Given the description of an element on the screen output the (x, y) to click on. 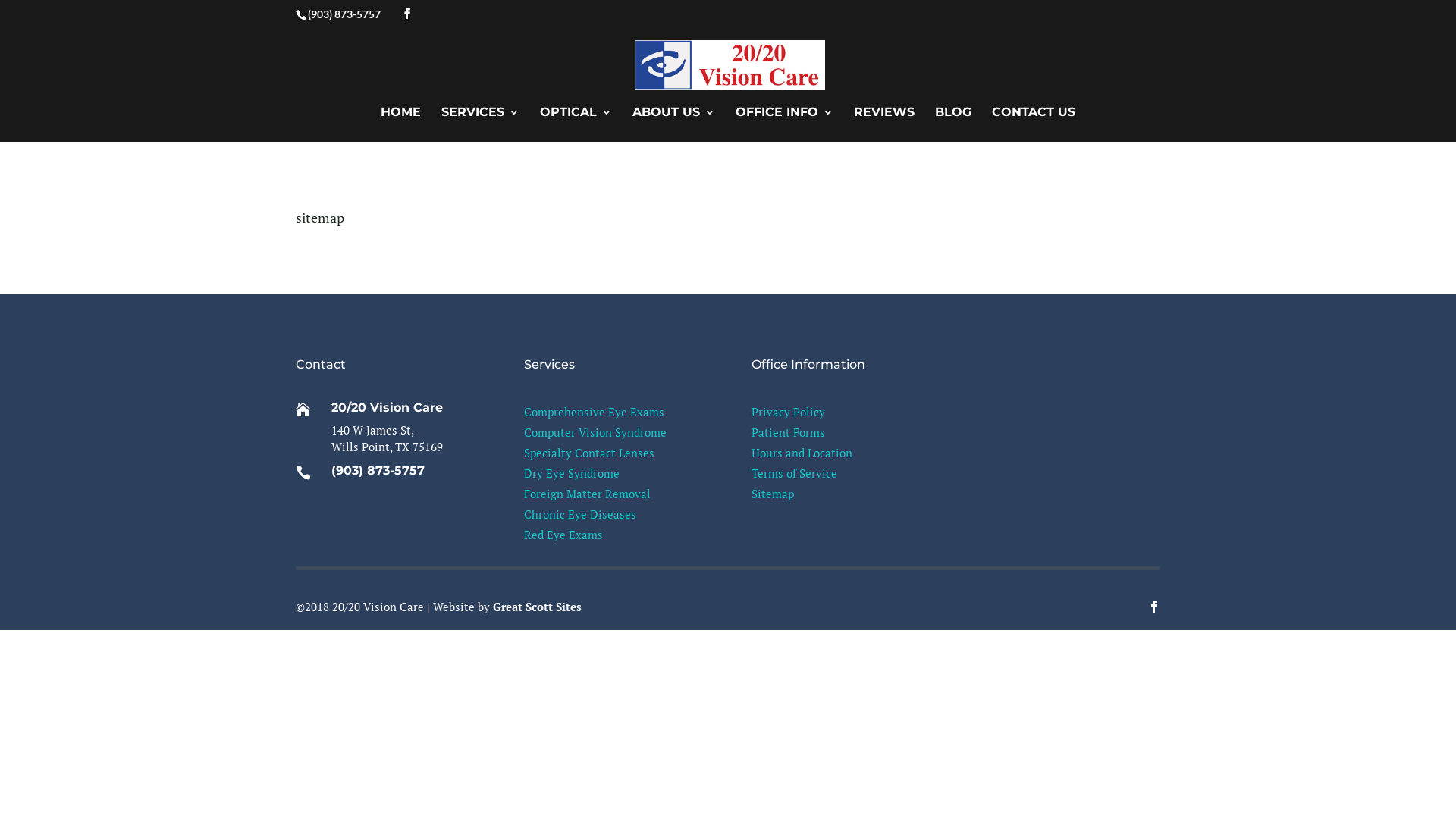
Comprehensive Eye Exams Element type: text (594, 411)
Specialty Contact Lenses Element type: text (589, 452)
HOME Element type: text (400, 123)
Sitemap Element type: text (772, 493)
Hours and Location Element type: text (801, 452)
SERVICES Element type: text (480, 123)
OFFICE INFO Element type: text (784, 123)
Privacy Policy Element type: text (788, 411)
BLOG Element type: text (953, 123)
Great Scott Sites Element type: text (536, 606)
Red Eye Exams Element type: text (563, 534)
Patient Forms Element type: text (788, 431)
ABOUT US Element type: text (673, 123)
Terms of Service Element type: text (794, 472)
CONTACT US Element type: text (1033, 123)
Foreign Matter Removal Element type: text (587, 493)
Chronic Eye Diseases Element type: text (580, 513)
REVIEWS Element type: text (883, 123)
OPTICAL Element type: text (575, 123)
Computer Vision Syndrome Element type: text (595, 431)
Dry Eye Syndrome Element type: text (571, 472)
